Given the description of an element on the screen output the (x, y) to click on. 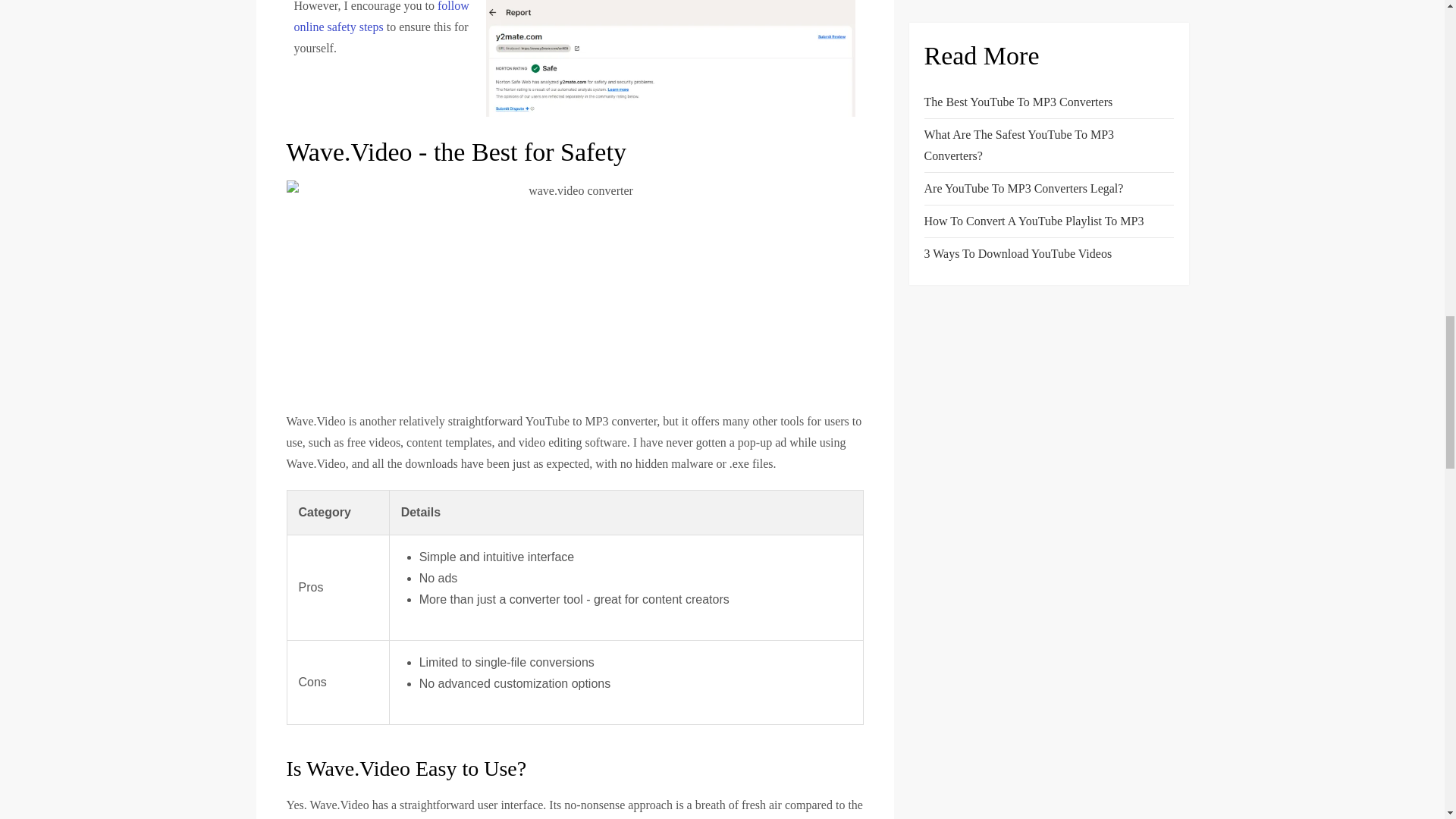
follow online safety steps (381, 16)
